Given the description of an element on the screen output the (x, y) to click on. 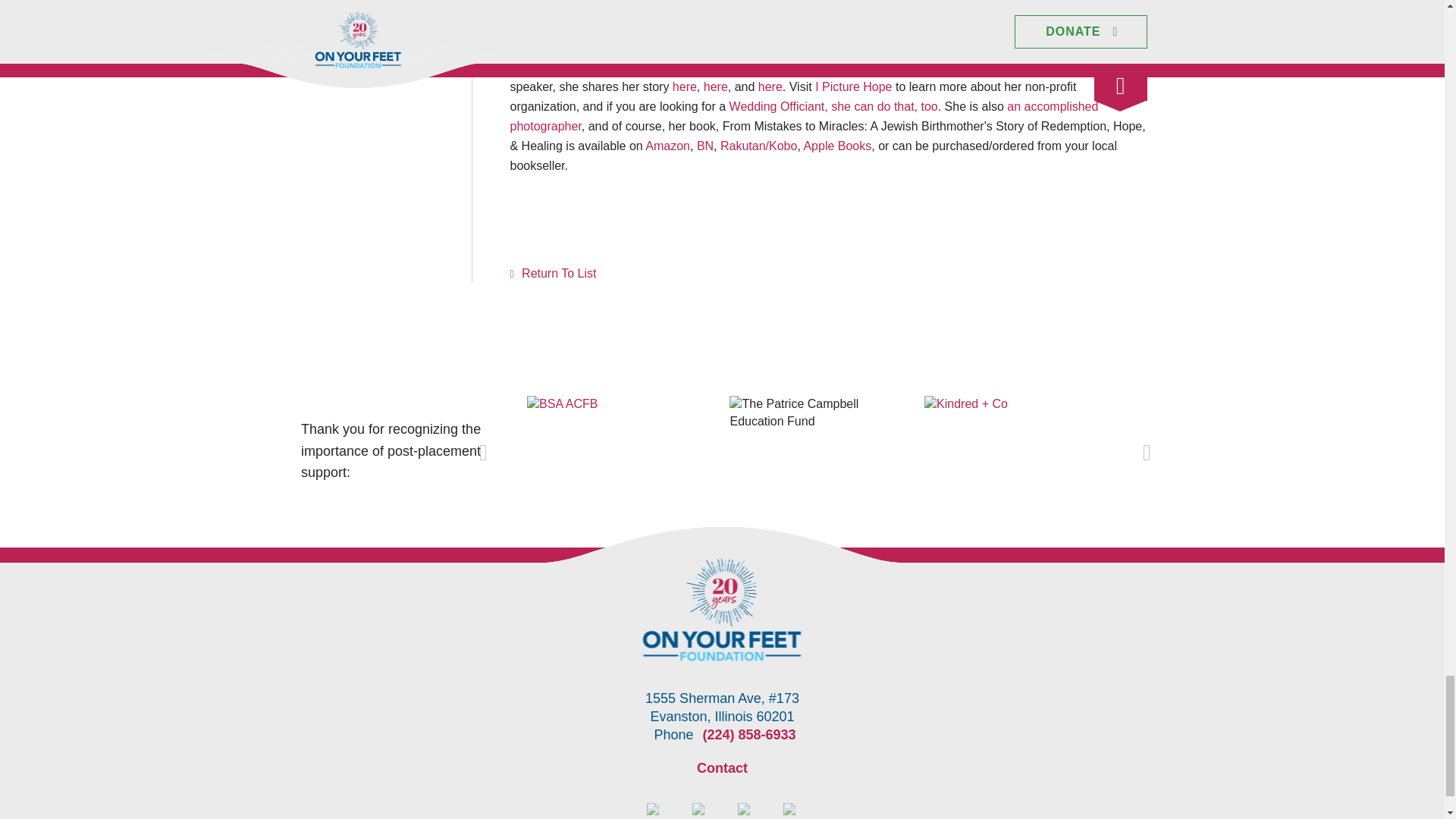
logo (721, 609)
